Given the description of an element on the screen output the (x, y) to click on. 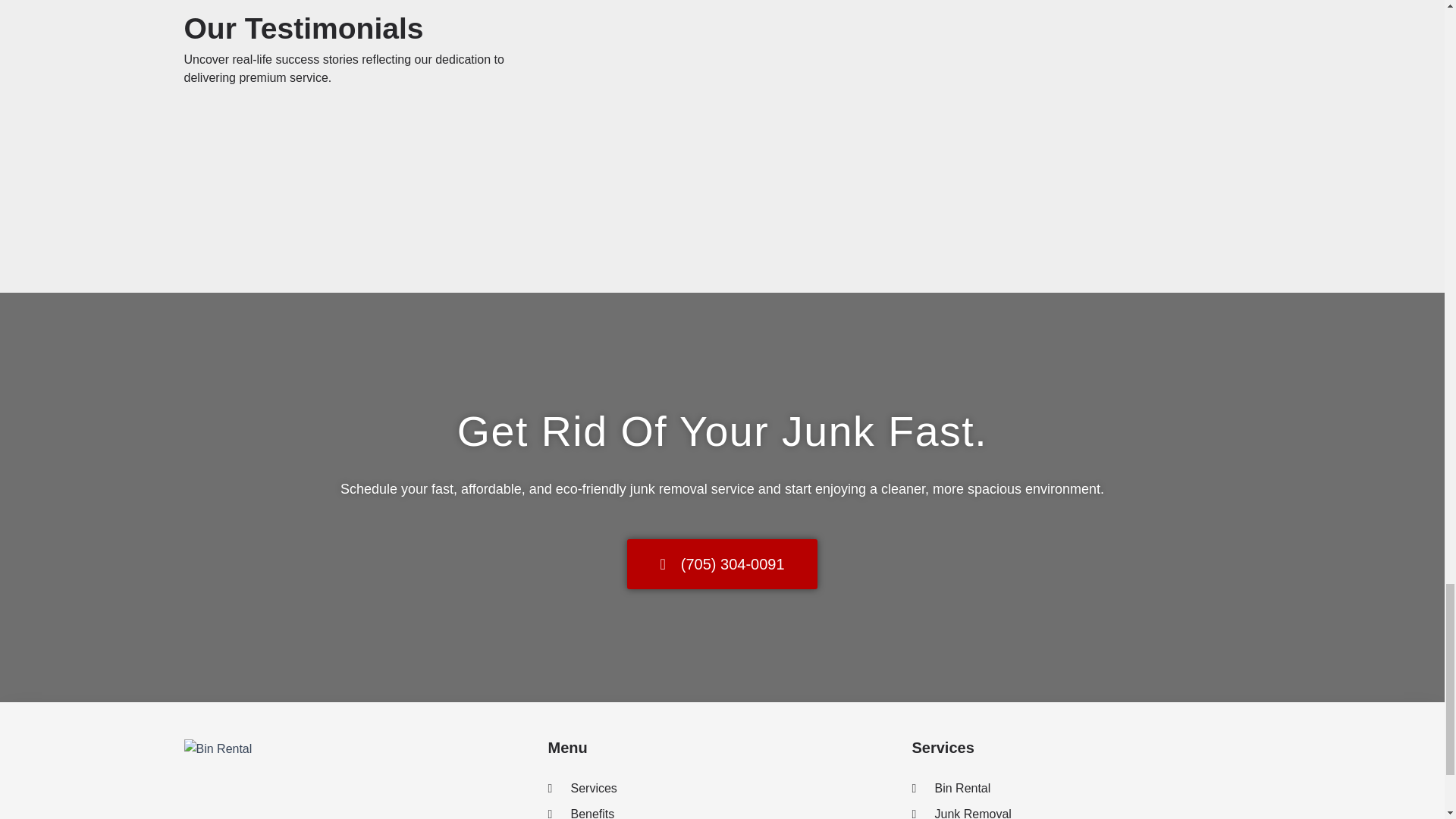
Bin Rental (1085, 788)
Services (721, 788)
Junk Removal (1085, 812)
Bin rental (217, 749)
Benefits (721, 812)
